Given the description of an element on the screen output the (x, y) to click on. 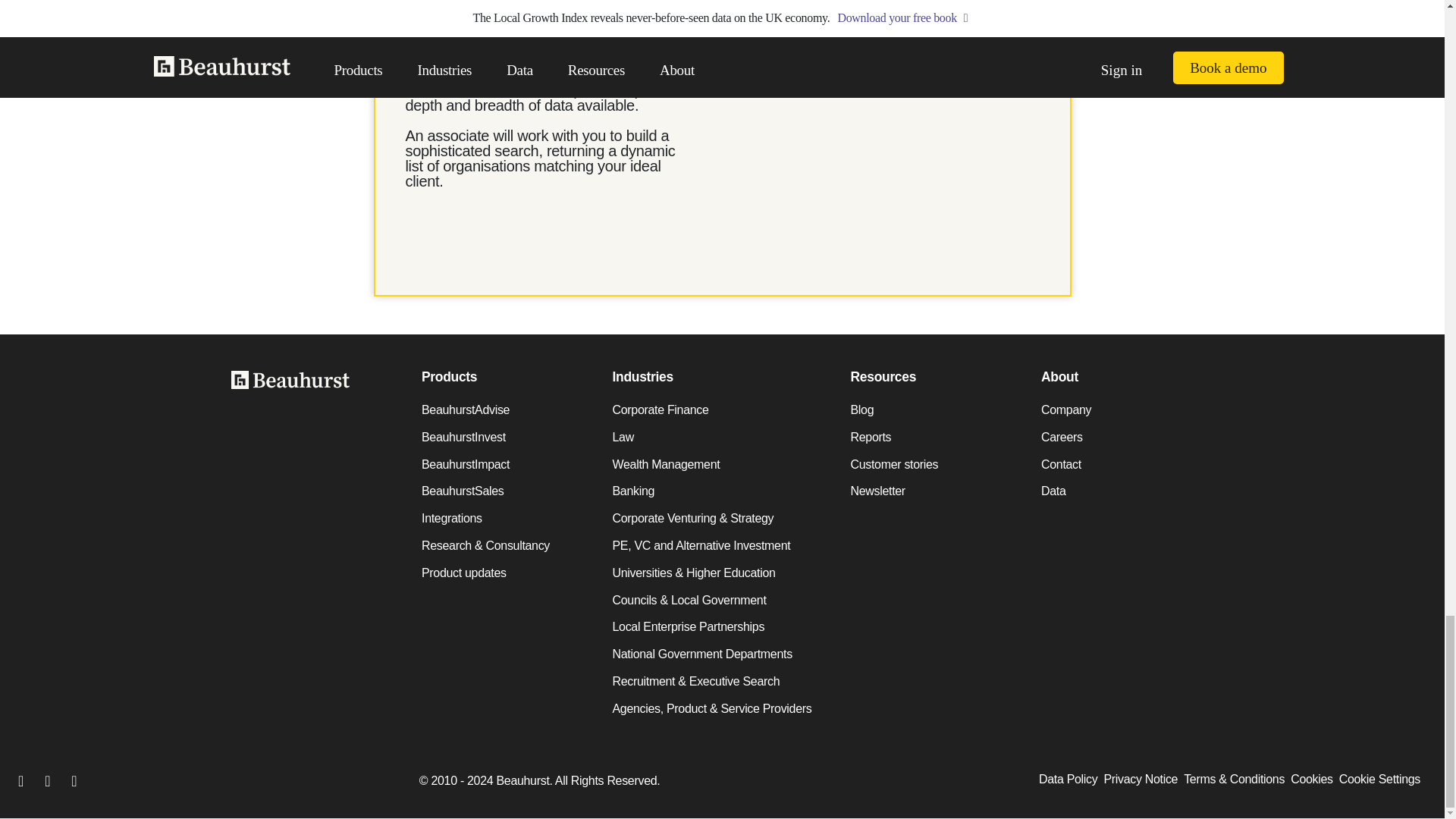
Book a demo (779, 40)
